Given the description of an element on the screen output the (x, y) to click on. 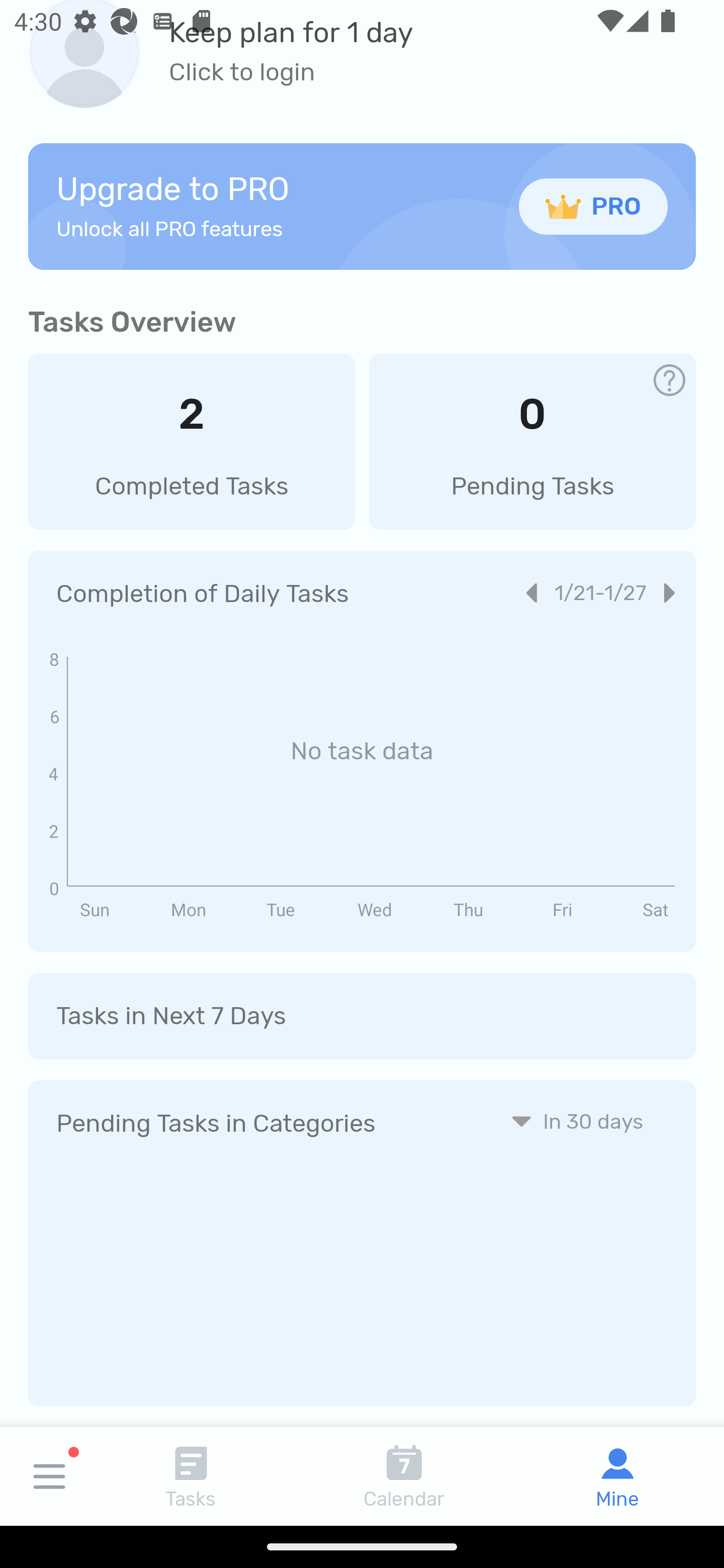
Click to login (291, 72)
Upgrade to PRO Unlock all PRO features PRO (361, 205)
In 30 days (577, 1120)
Tasks (190, 1475)
Calendar (404, 1475)
Mine (617, 1475)
